Given the description of an element on the screen output the (x, y) to click on. 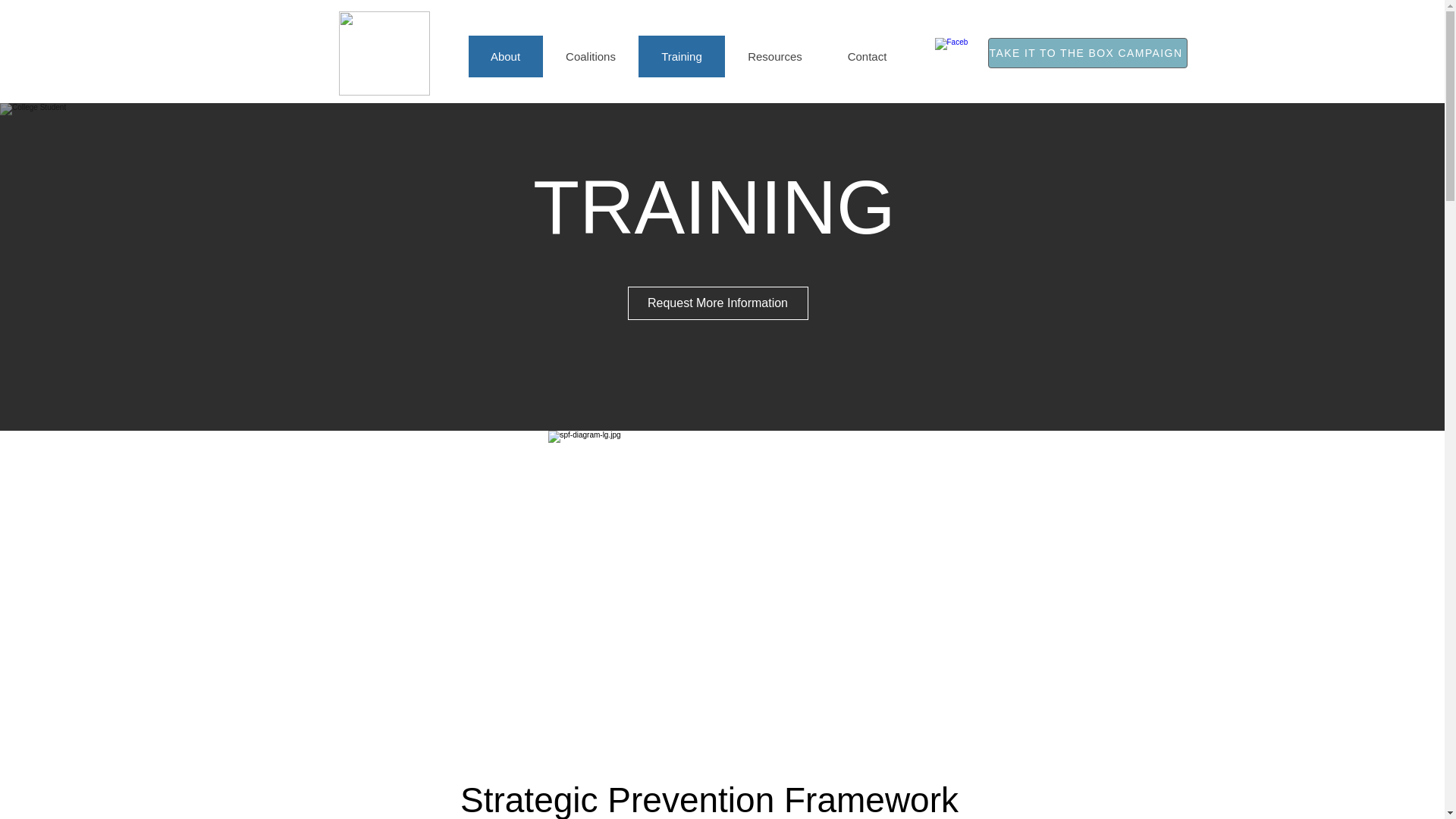
Contact (866, 56)
Coalitions (591, 56)
Training (682, 56)
About (505, 56)
TAKE IT TO THE BOX CAMPAIGN (1086, 52)
Request More Information (717, 303)
Resources (775, 56)
